Given the description of an element on the screen output the (x, y) to click on. 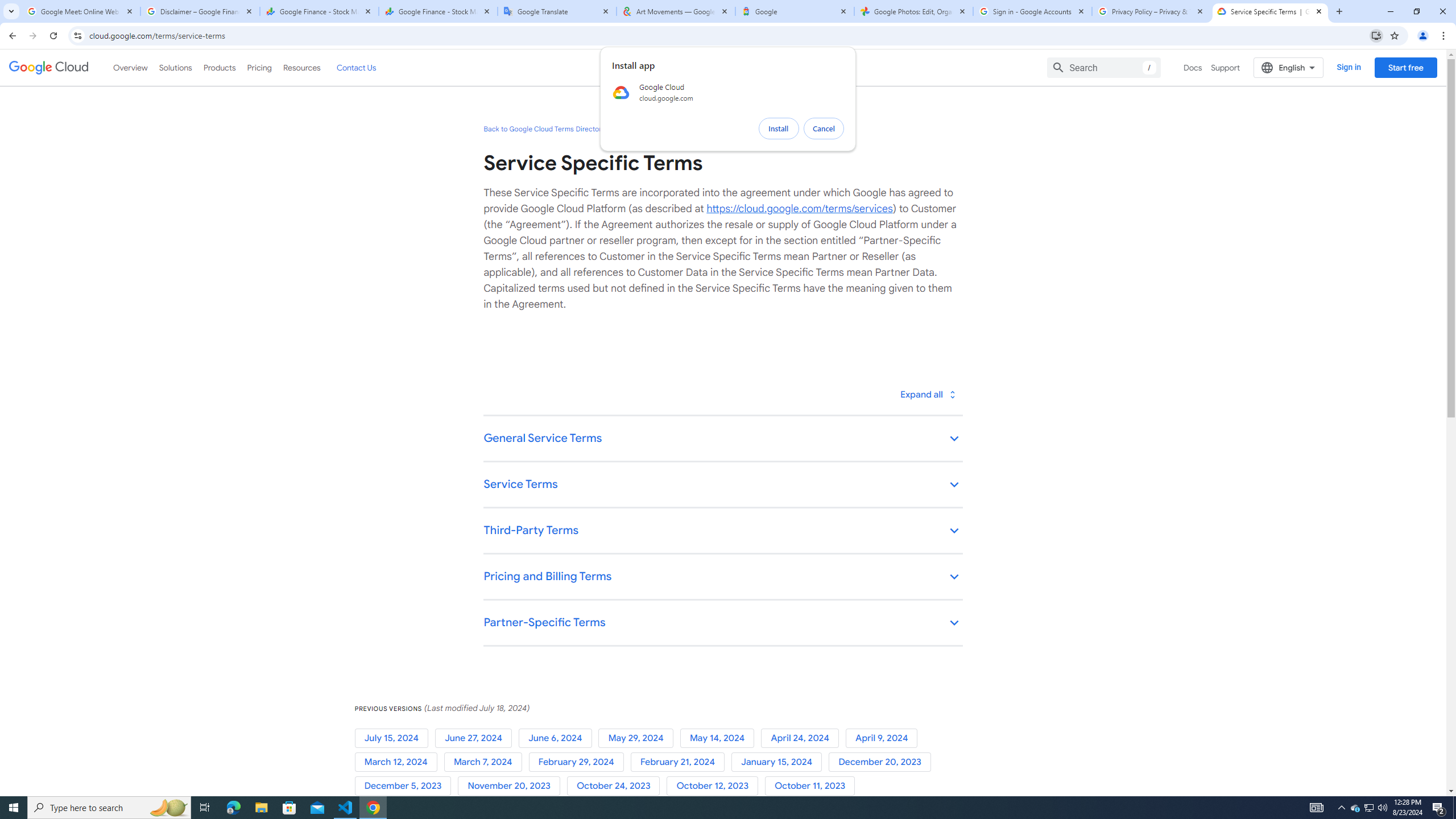
April 9, 2024 (883, 737)
Contact Us (355, 67)
Resources (301, 67)
April 24, 2024 (803, 737)
Google (794, 11)
Google Cloud (48, 67)
June 6, 2024 (558, 737)
